Given the description of an element on the screen output the (x, y) to click on. 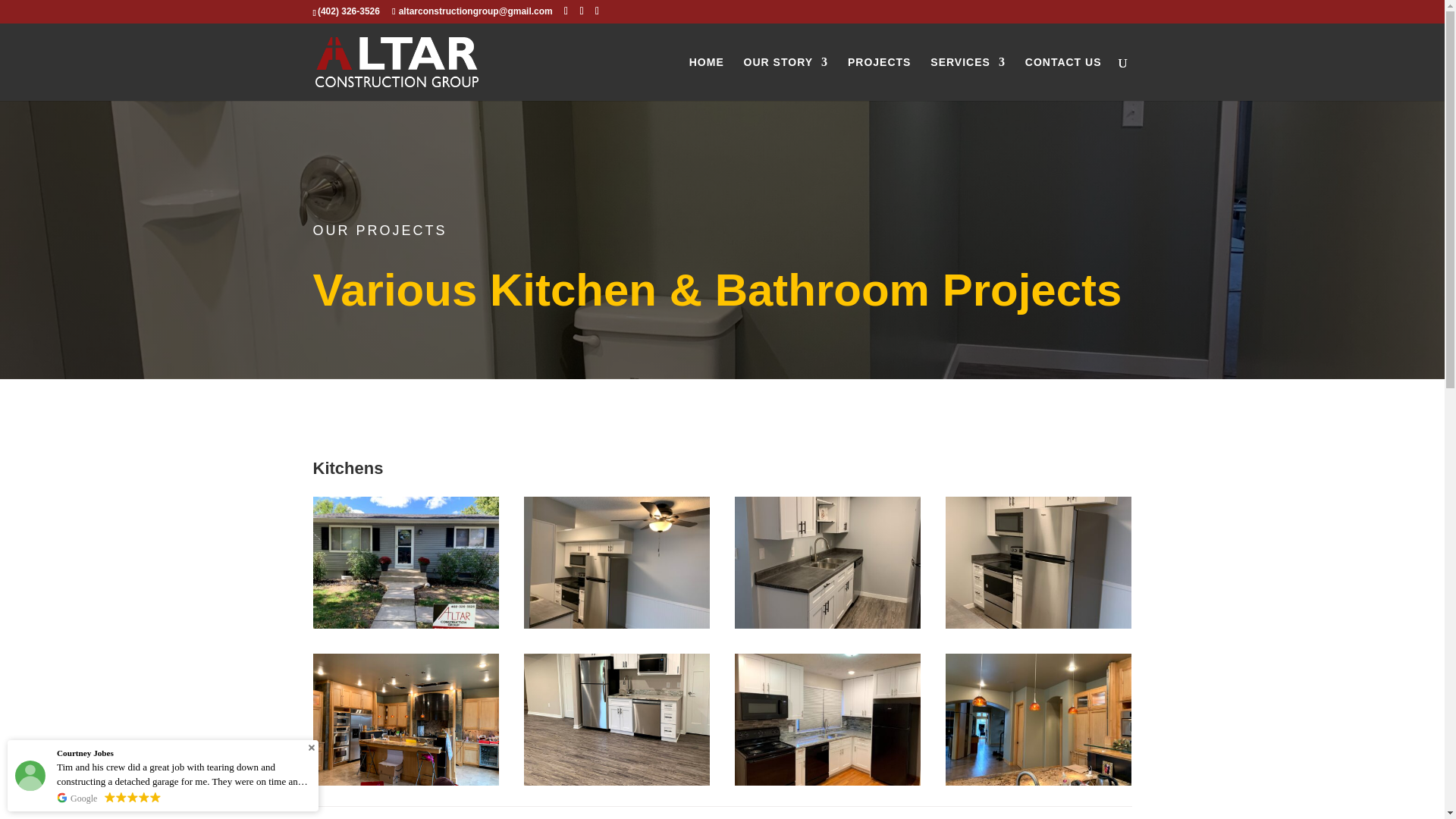
OUR STORY (786, 78)
PROJECTS (879, 78)
CONTACT US (1063, 78)
painting-02 (406, 781)
SERVICES (968, 78)
flooring-03 (617, 781)
